Given the description of an element on the screen output the (x, y) to click on. 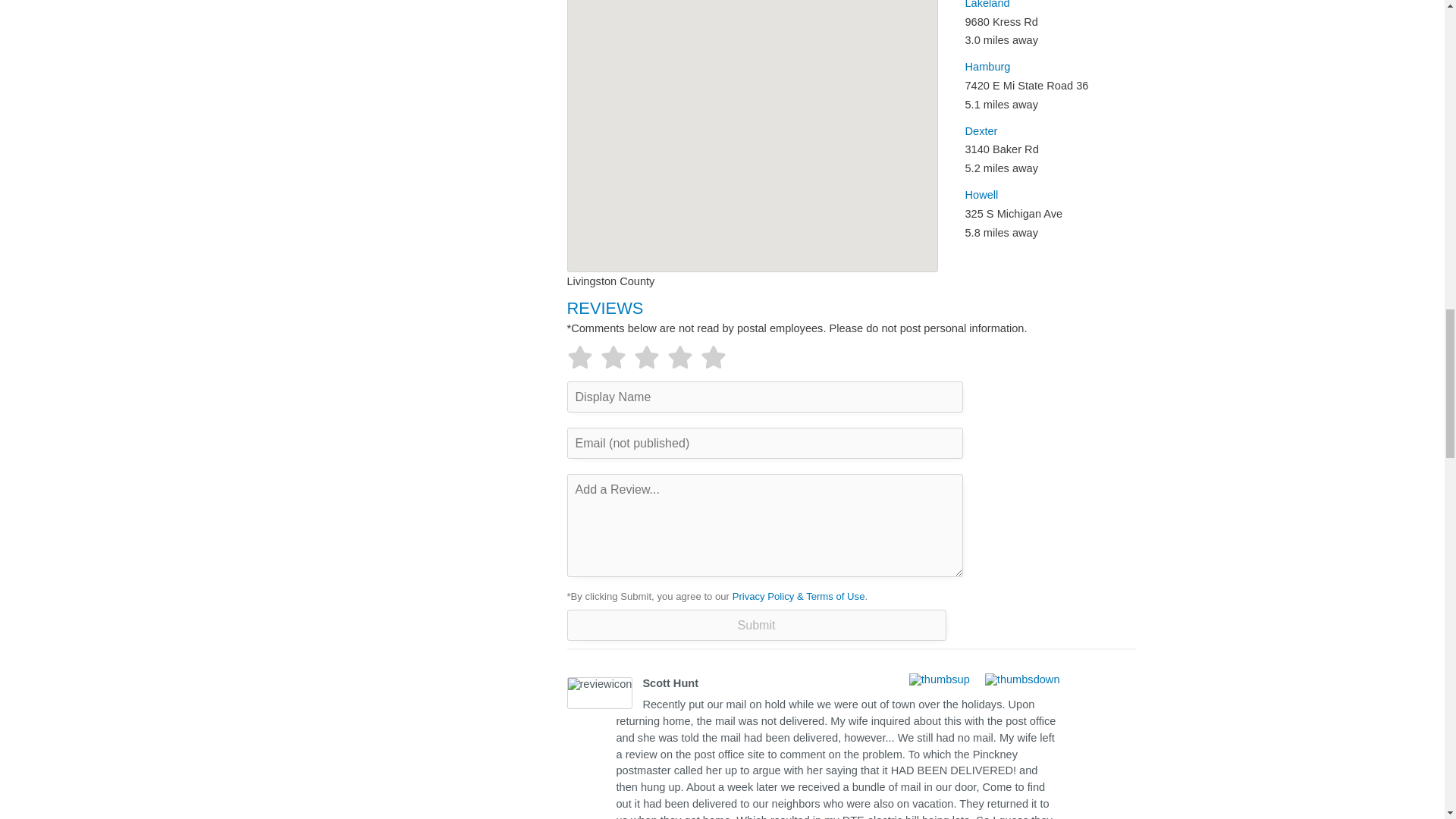
Howell (980, 194)
Hamburg (986, 66)
Submit (756, 624)
Lakeland (986, 4)
Dexter (980, 131)
